Given the description of an element on the screen output the (x, y) to click on. 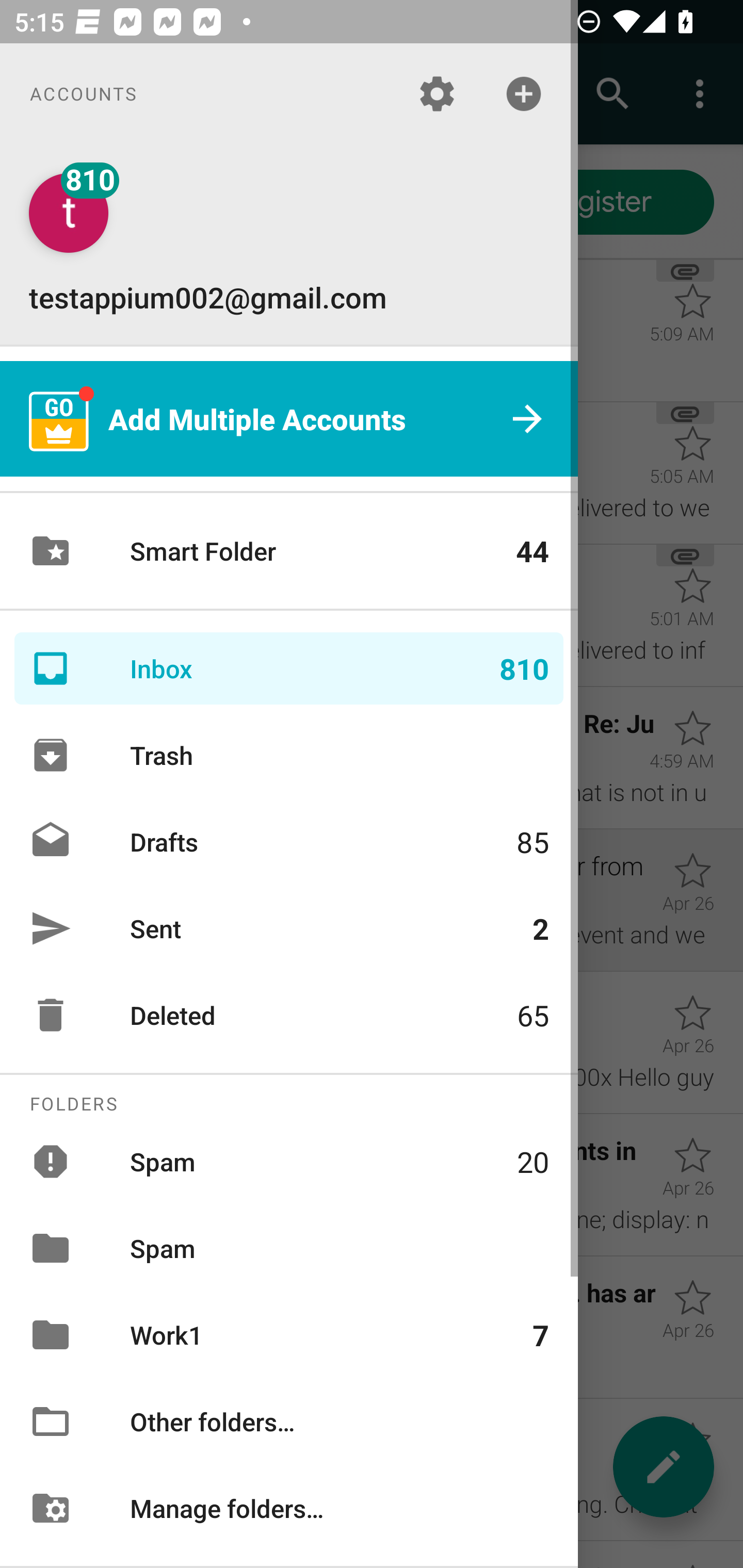
testappium002@gmail.com (289, 244)
Add Multiple Accounts (289, 418)
Smart Folder 44 (289, 551)
Inbox 810 (289, 668)
Trash (289, 754)
Drafts 85 (289, 841)
Sent 2 (289, 928)
Deleted 65 (289, 1015)
Spam 20 (289, 1160)
Spam (289, 1248)
Work1 7 (289, 1335)
Other folders… (289, 1421)
Manage folders… (289, 1507)
